Given the description of an element on the screen output the (x, y) to click on. 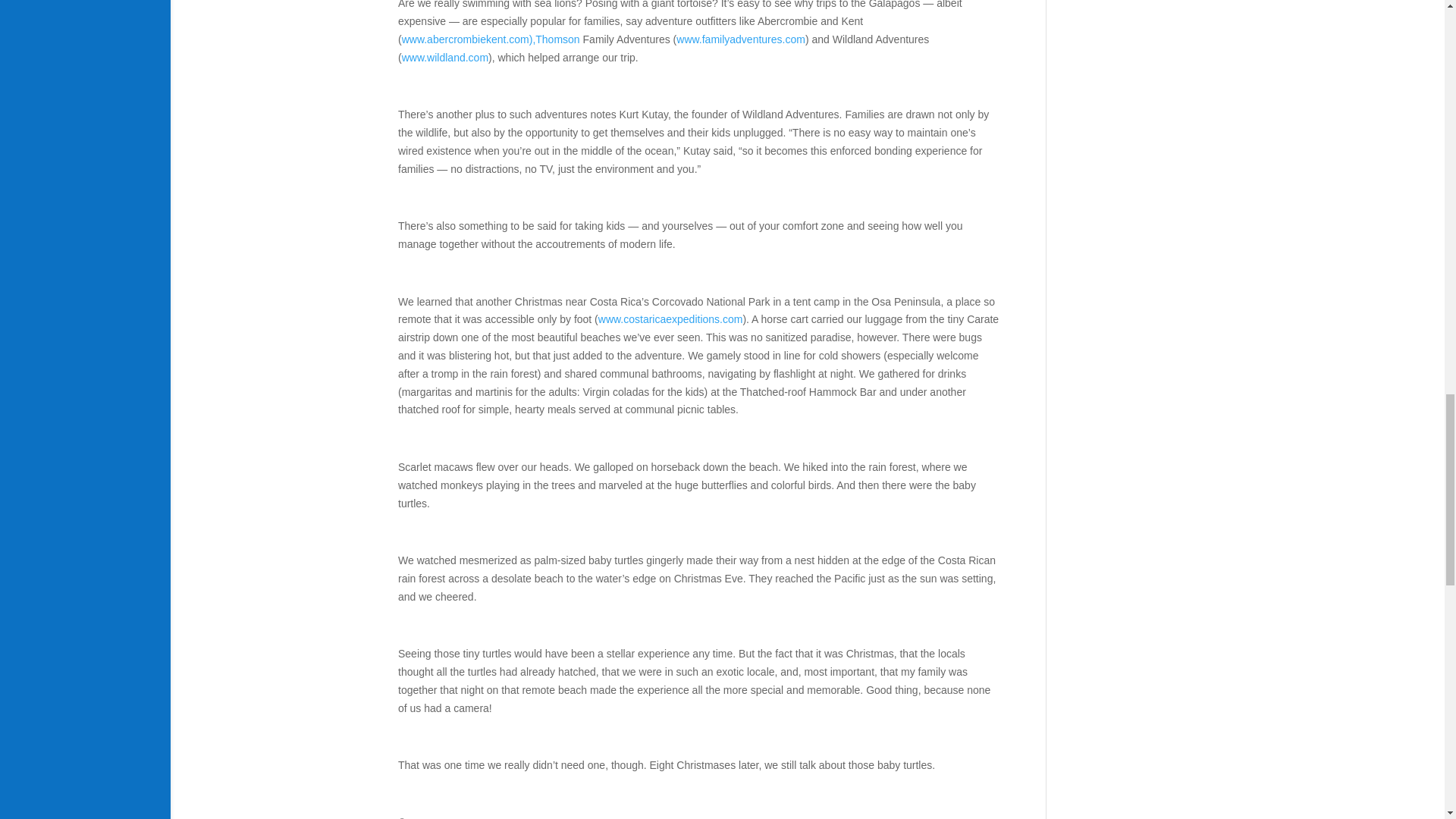
www.wildland.com (444, 57)
www.familyadventures.com (741, 39)
www.costaricaexpeditions.com (670, 318)
